Given the description of an element on the screen output the (x, y) to click on. 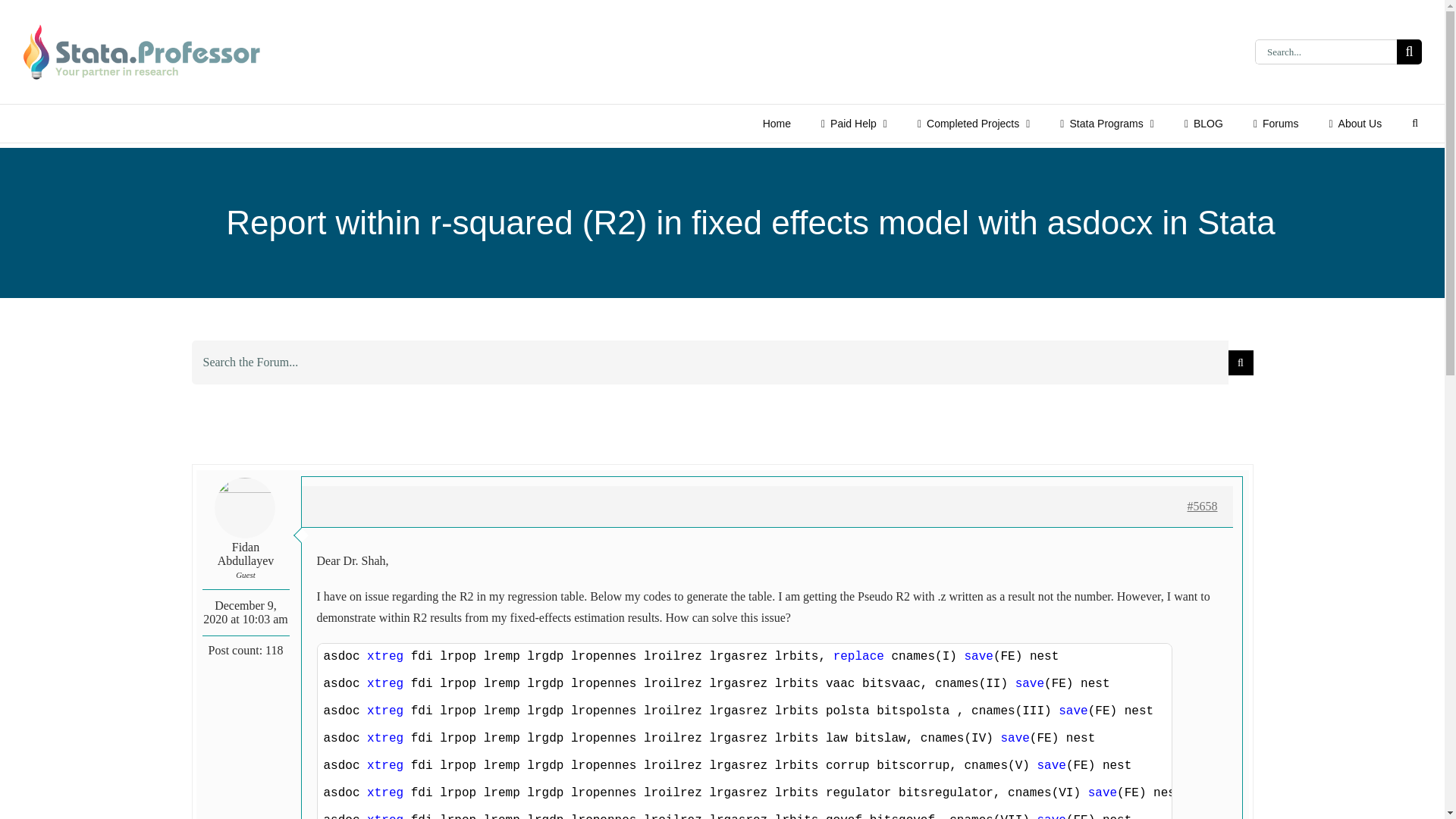
Paid Help (853, 123)
Home (776, 123)
Completed Projects (973, 123)
